Given the description of an element on the screen output the (x, y) to click on. 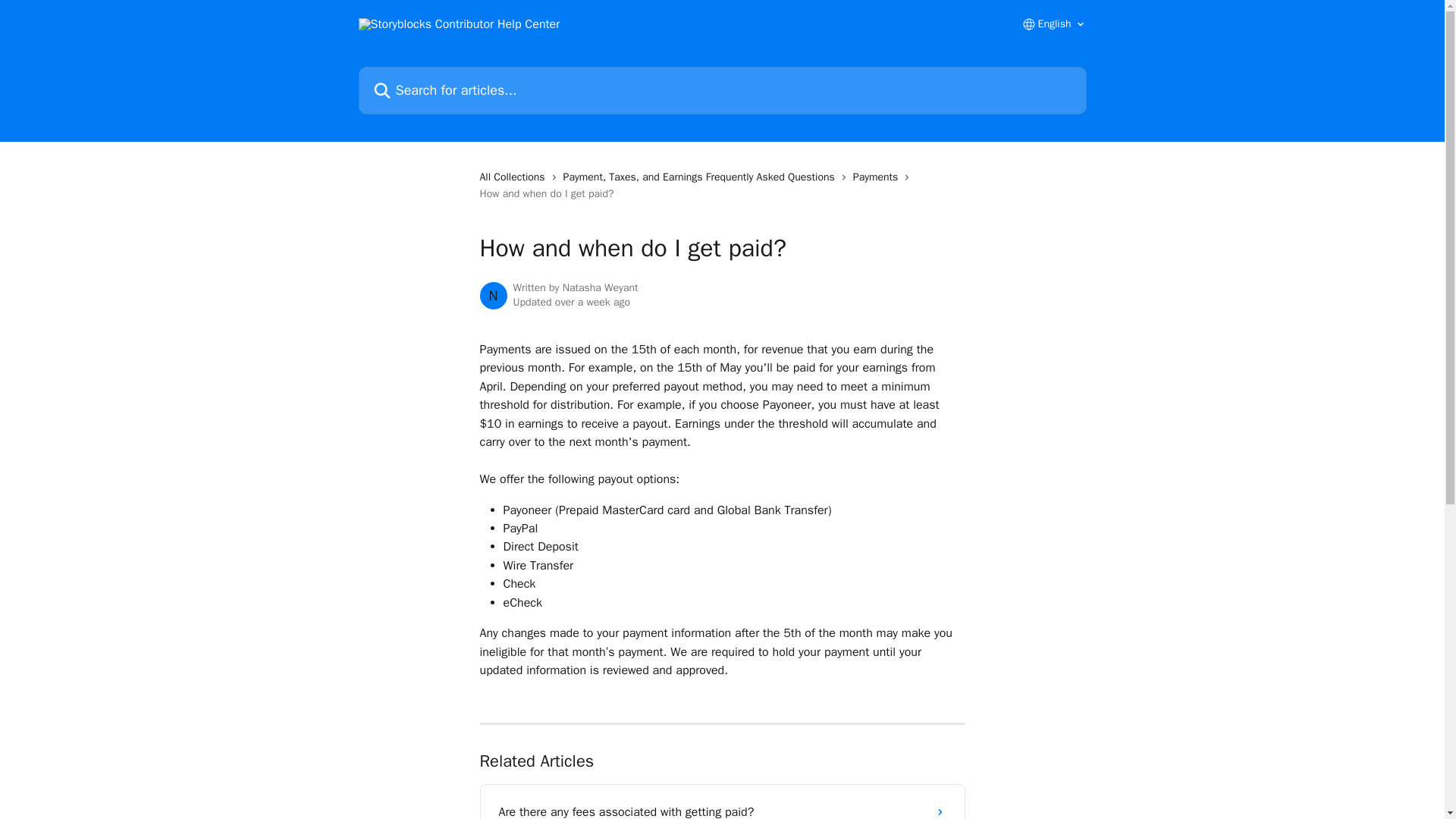
Payment, Taxes, and Earnings Frequently Asked Questions (702, 176)
Are there any fees associated with getting paid? (722, 806)
All Collections (514, 176)
Payments (878, 176)
